Given the description of an element on the screen output the (x, y) to click on. 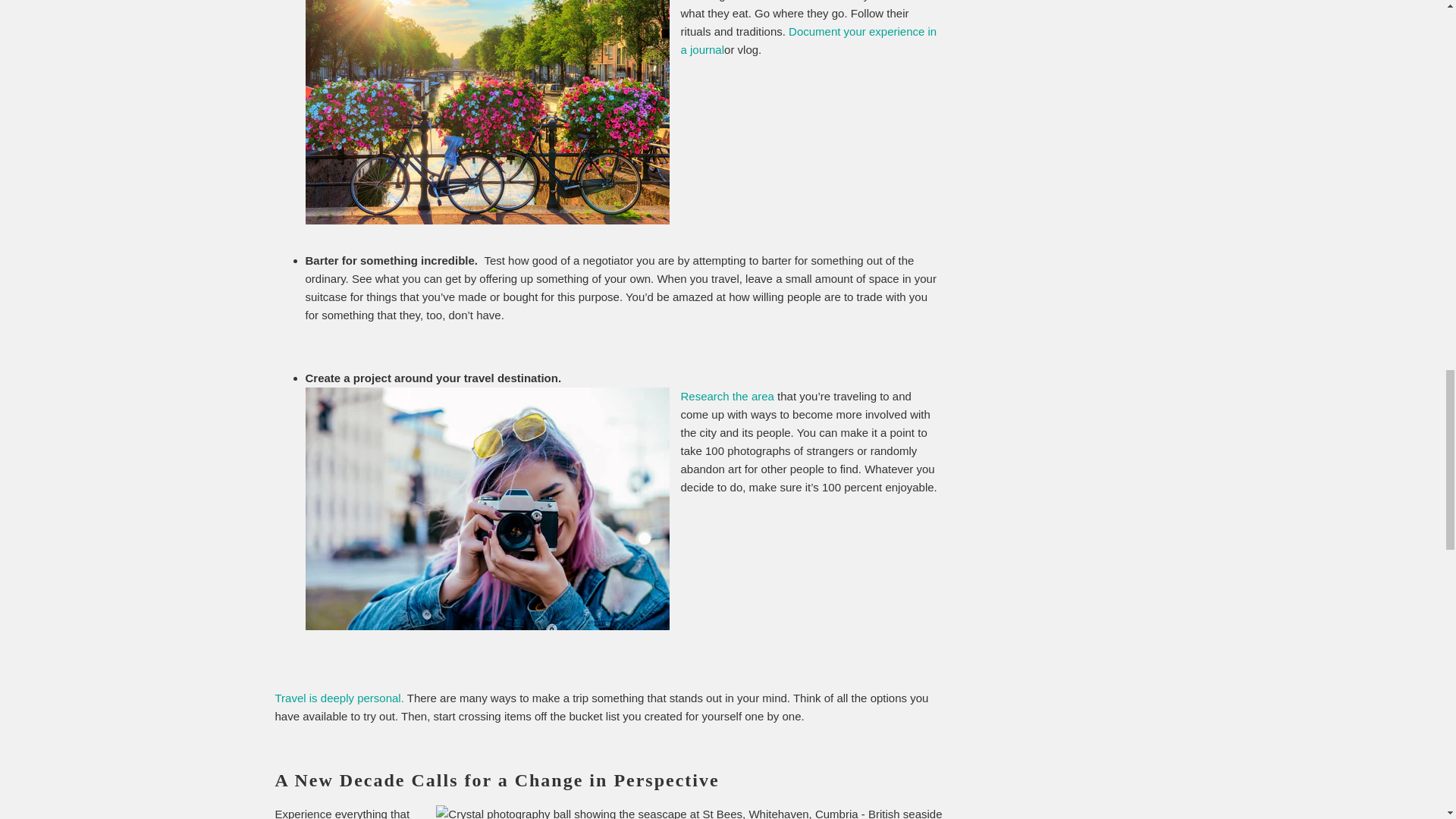
What Type of Traveler Are You? (339, 697)
How To Be a Lifelong Learner (727, 395)
Leather Travel Journals (809, 40)
